Given the description of an element on the screen output the (x, y) to click on. 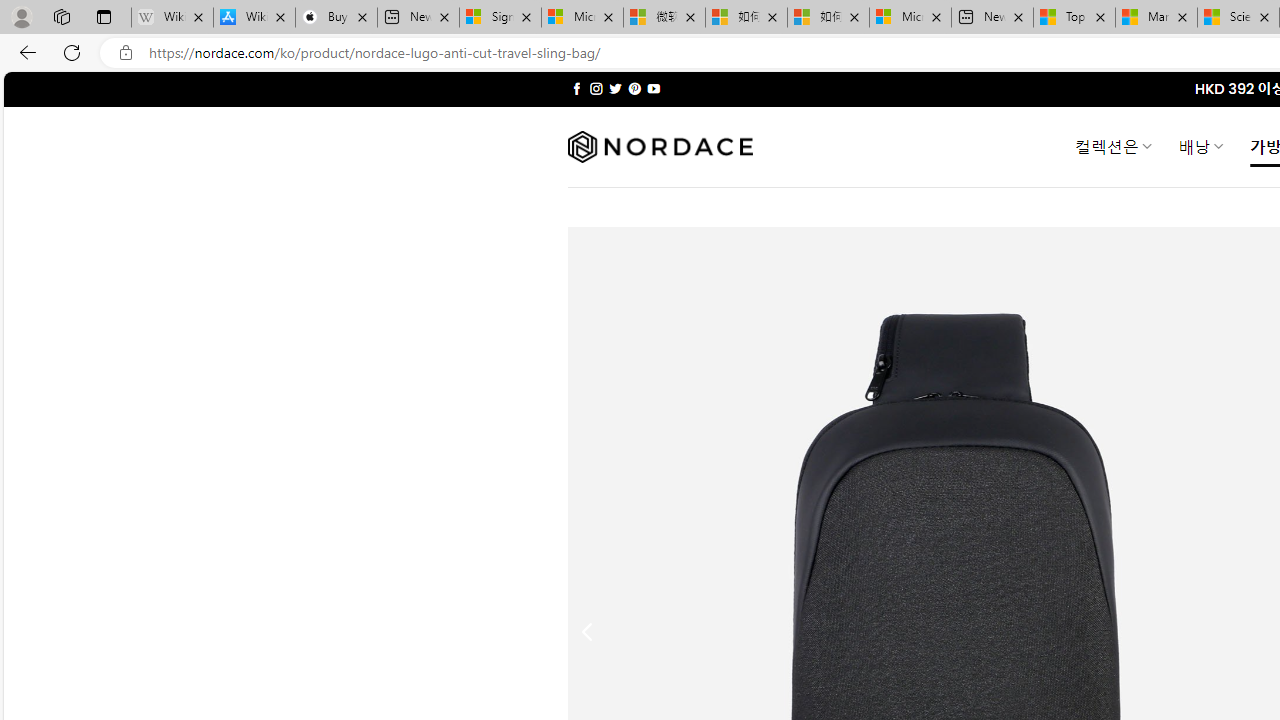
Follow on YouTube (653, 88)
Follow on Pinterest (634, 88)
Follow on Twitter (615, 88)
